Given the description of an element on the screen output the (x, y) to click on. 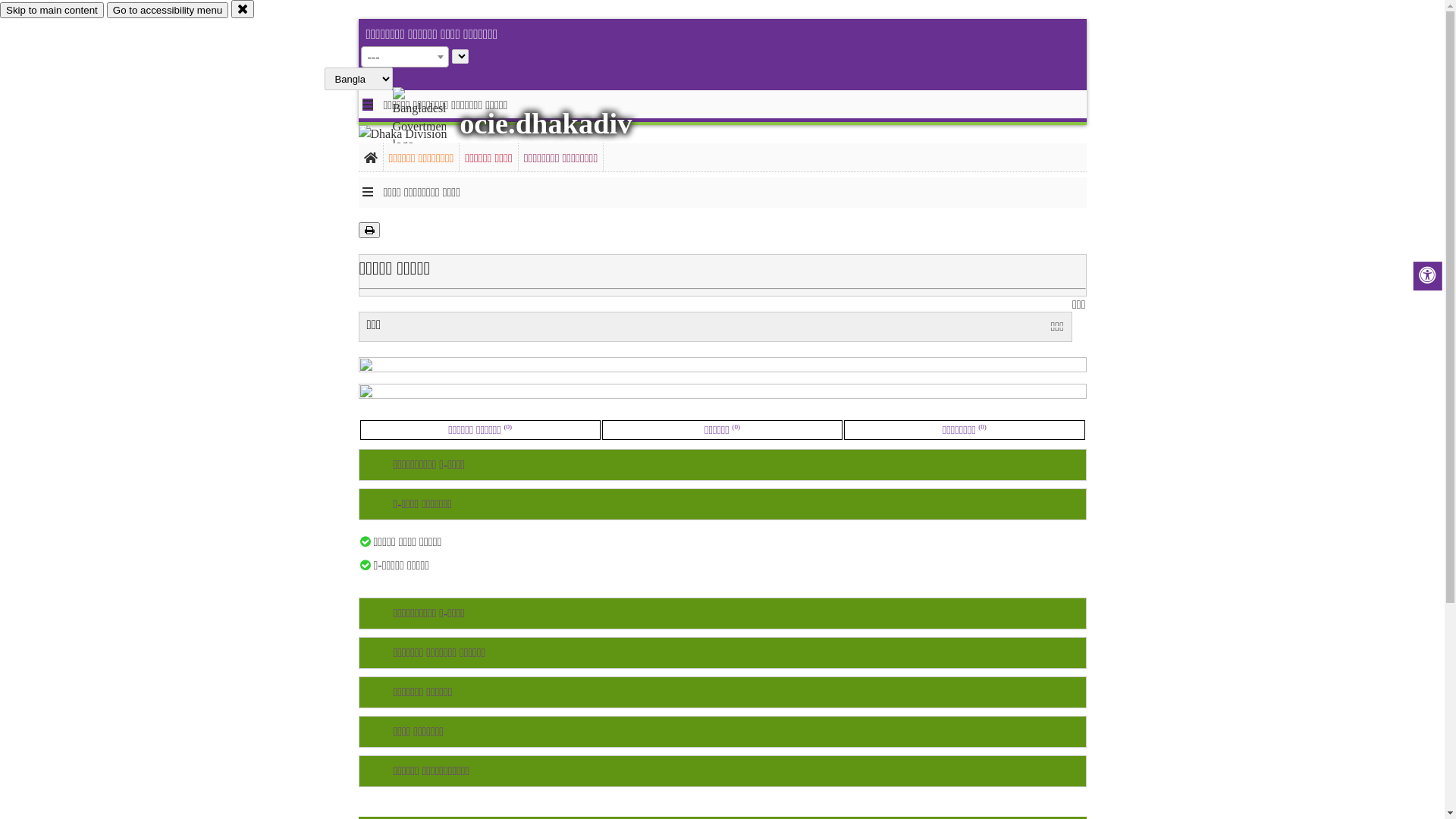

                
             Element type: hover (431, 120)
ocie.dhakadiv Element type: text (545, 123)
Go to accessibility menu Element type: text (167, 10)
Skip to main content Element type: text (51, 10)
close Element type: hover (242, 9)
